Given the description of an element on the screen output the (x, y) to click on. 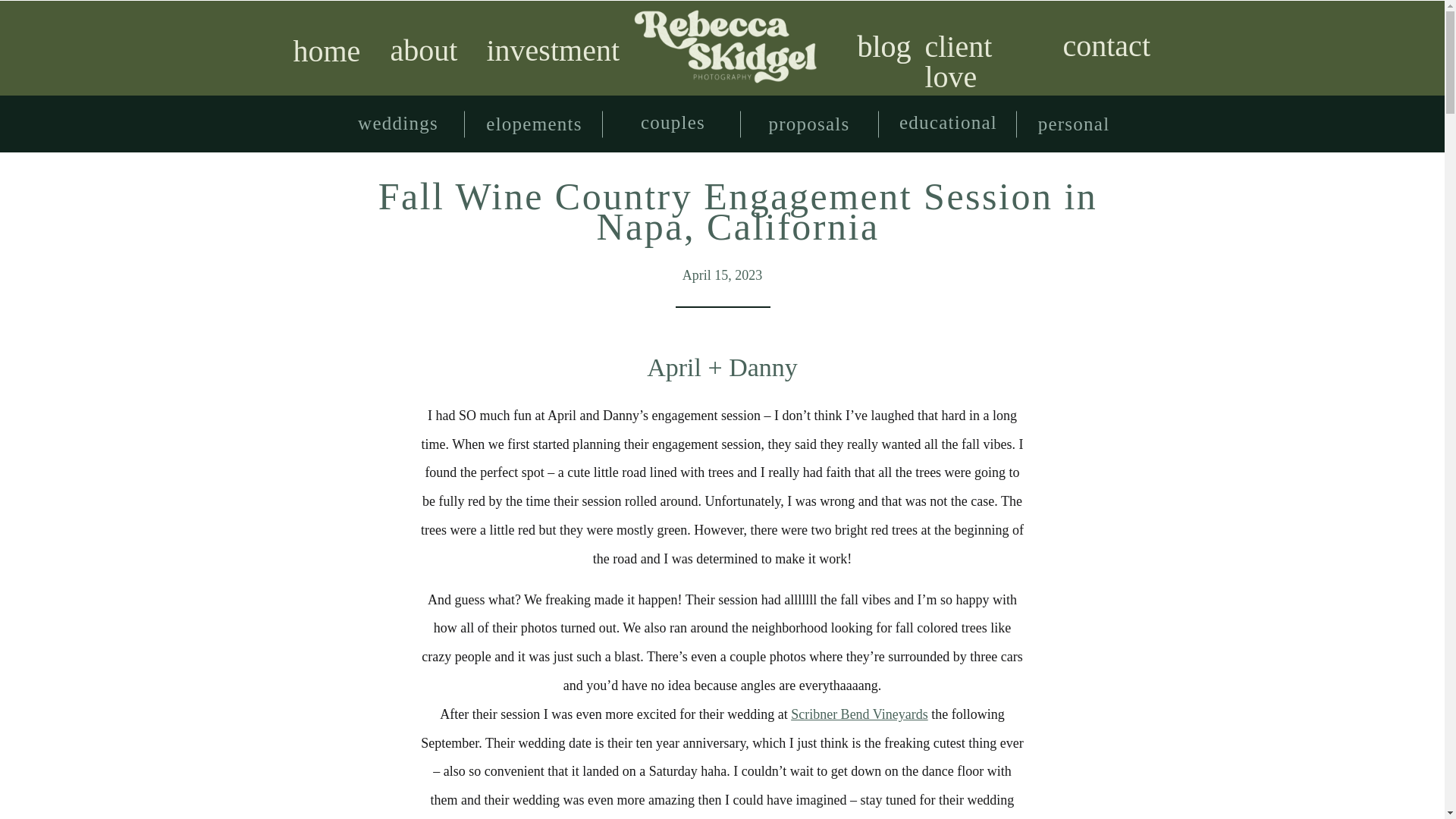
couples (673, 124)
about (420, 51)
proposals (808, 124)
elopements (535, 124)
Scribner Bend Vineyards (859, 713)
contact (1103, 45)
home (321, 51)
weddings (397, 124)
personal (1074, 124)
blog (882, 45)
client love (979, 47)
investment (550, 51)
educational (948, 124)
